Given the description of an element on the screen output the (x, y) to click on. 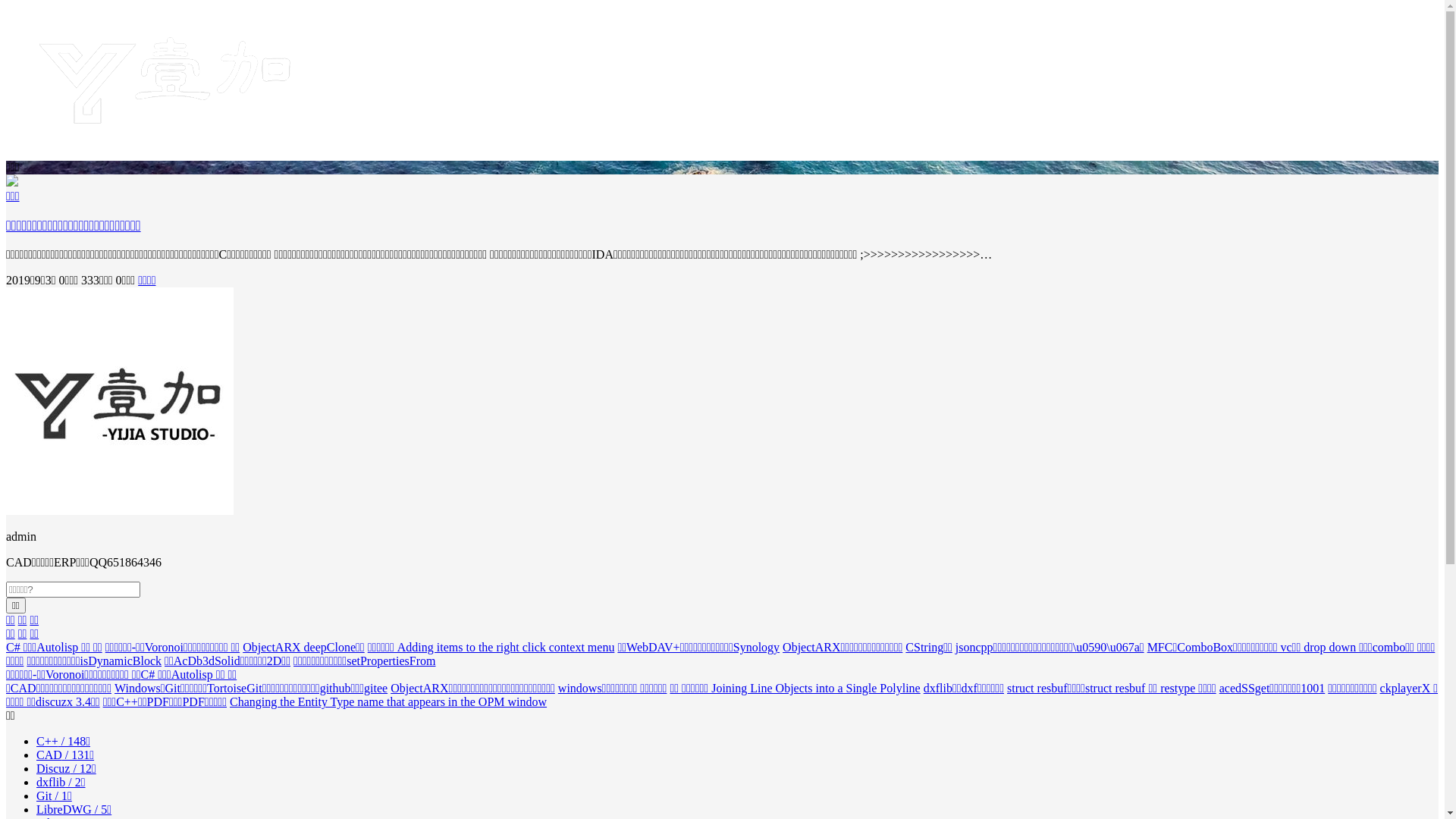
Changing the Entity Type name that appears in the OPM window Element type: text (387, 701)
